Given the description of an element on the screen output the (x, y) to click on. 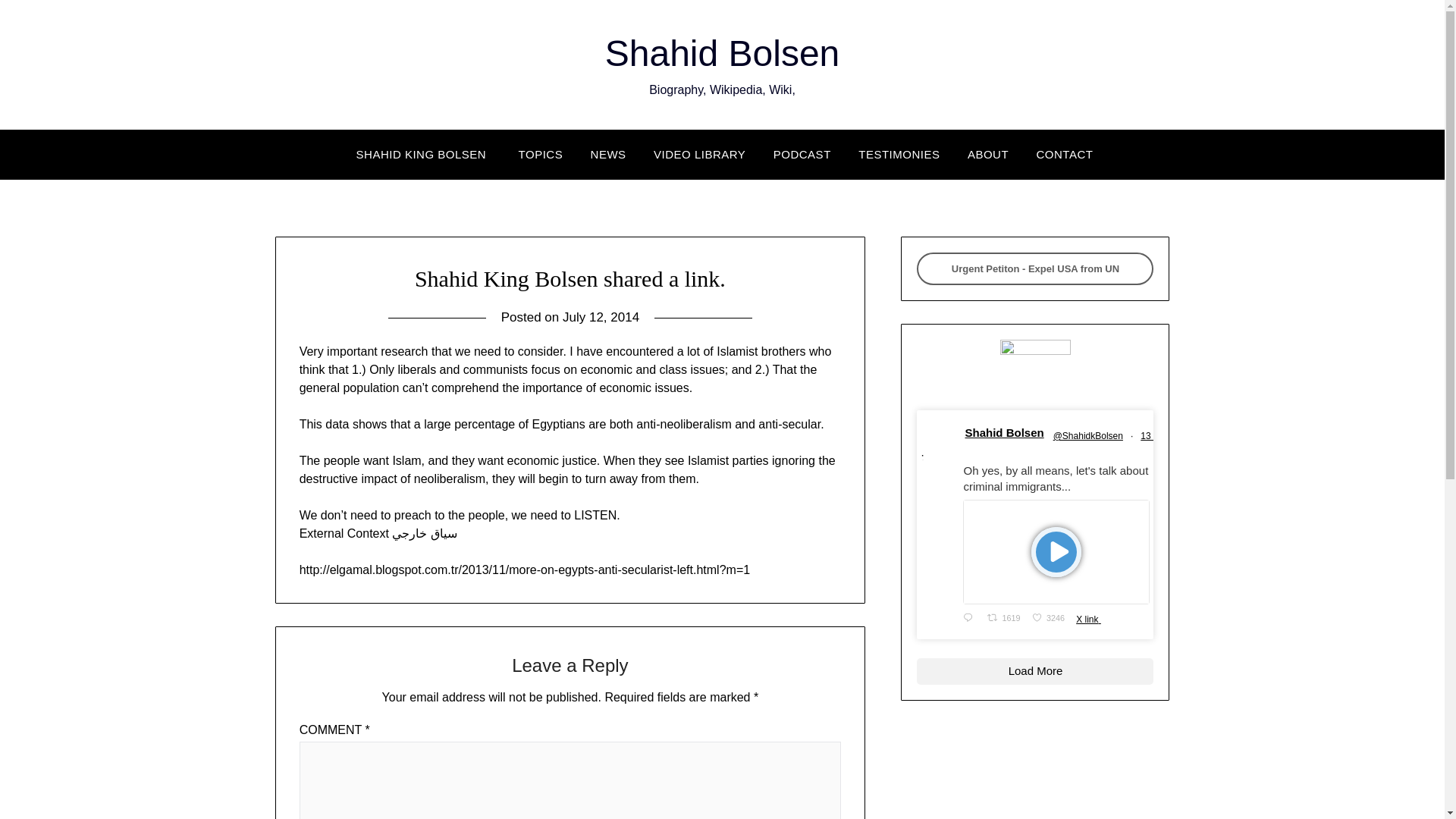
CONTACT (1065, 154)
ABOUT (987, 154)
Load More (1035, 670)
NEWS (608, 154)
July 12, 2014 (600, 317)
Urgent Petiton - Expel USA from UN (1035, 268)
Reply on Twitter 1812159010428379298 (971, 619)
SHAHID KING BOLSEN (421, 154)
TOPICS (1050, 619)
; (540, 154)
TESTIMONIES (938, 442)
X link 1812159010428379298 (1005, 619)
PODCAST (898, 154)
